Given the description of an element on the screen output the (x, y) to click on. 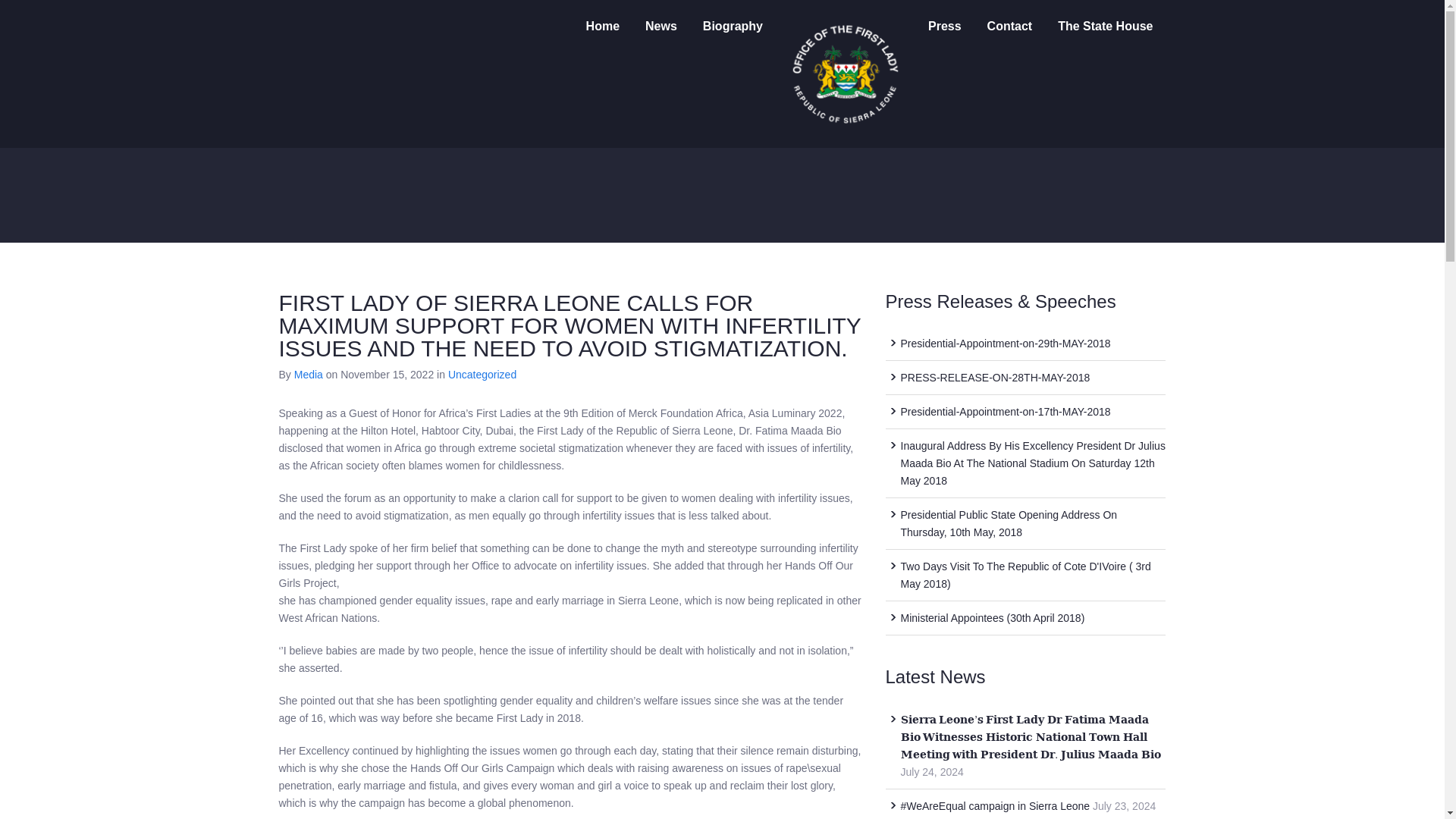
Presidential-Appointment-on-17th-MAY-2018 (1005, 411)
Home (602, 25)
Uncategorized (482, 374)
Contact (1009, 25)
PRESS-RELEASE-ON-28TH-MAY-2018 (995, 377)
Press (944, 25)
Presidential-Appointment-on-29th-MAY-2018 (1005, 343)
News (660, 25)
The State House (1105, 25)
Media (308, 374)
